Given the description of an element on the screen output the (x, y) to click on. 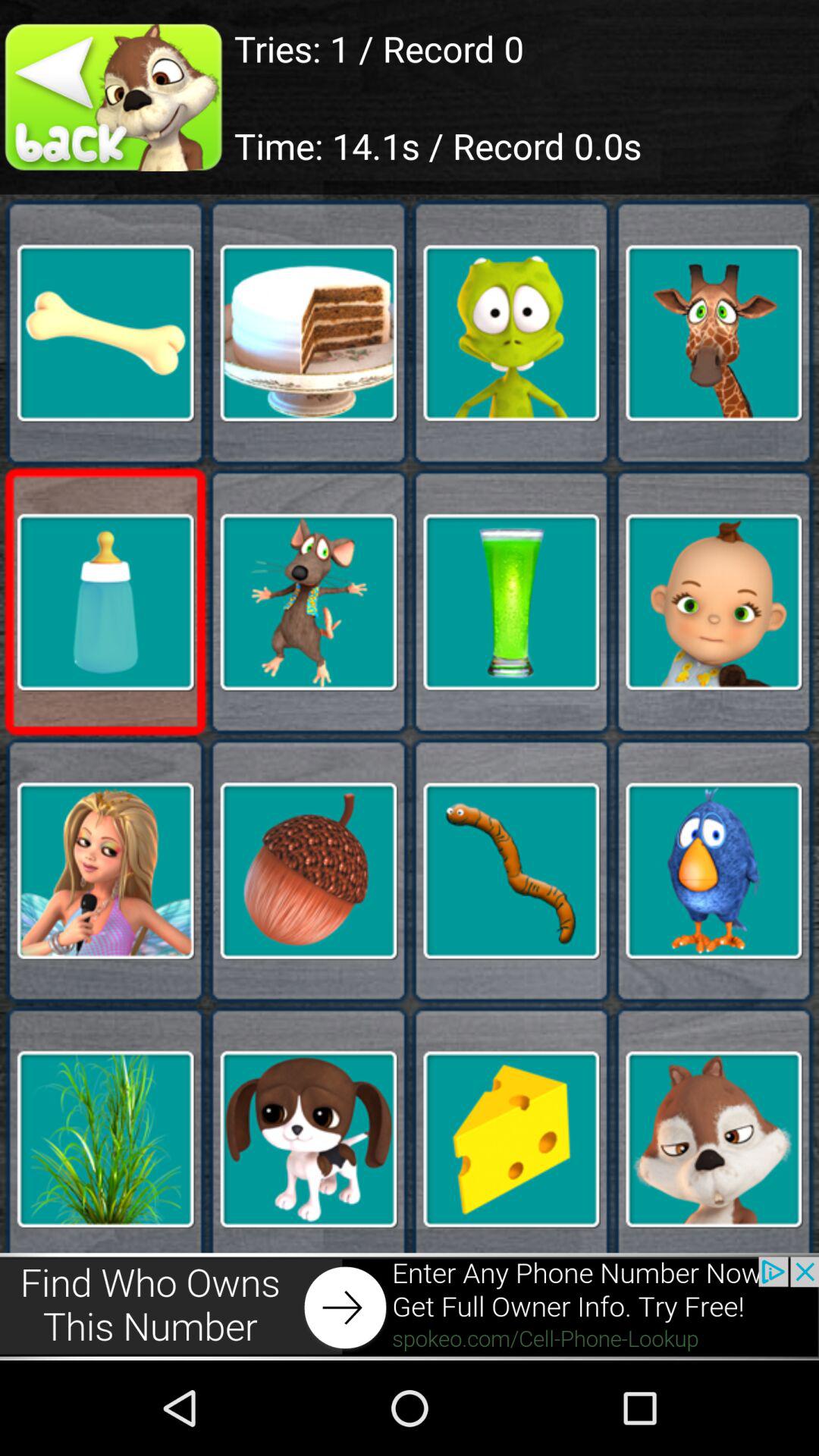
open advertisement (409, 1306)
